Given the description of an element on the screen output the (x, y) to click on. 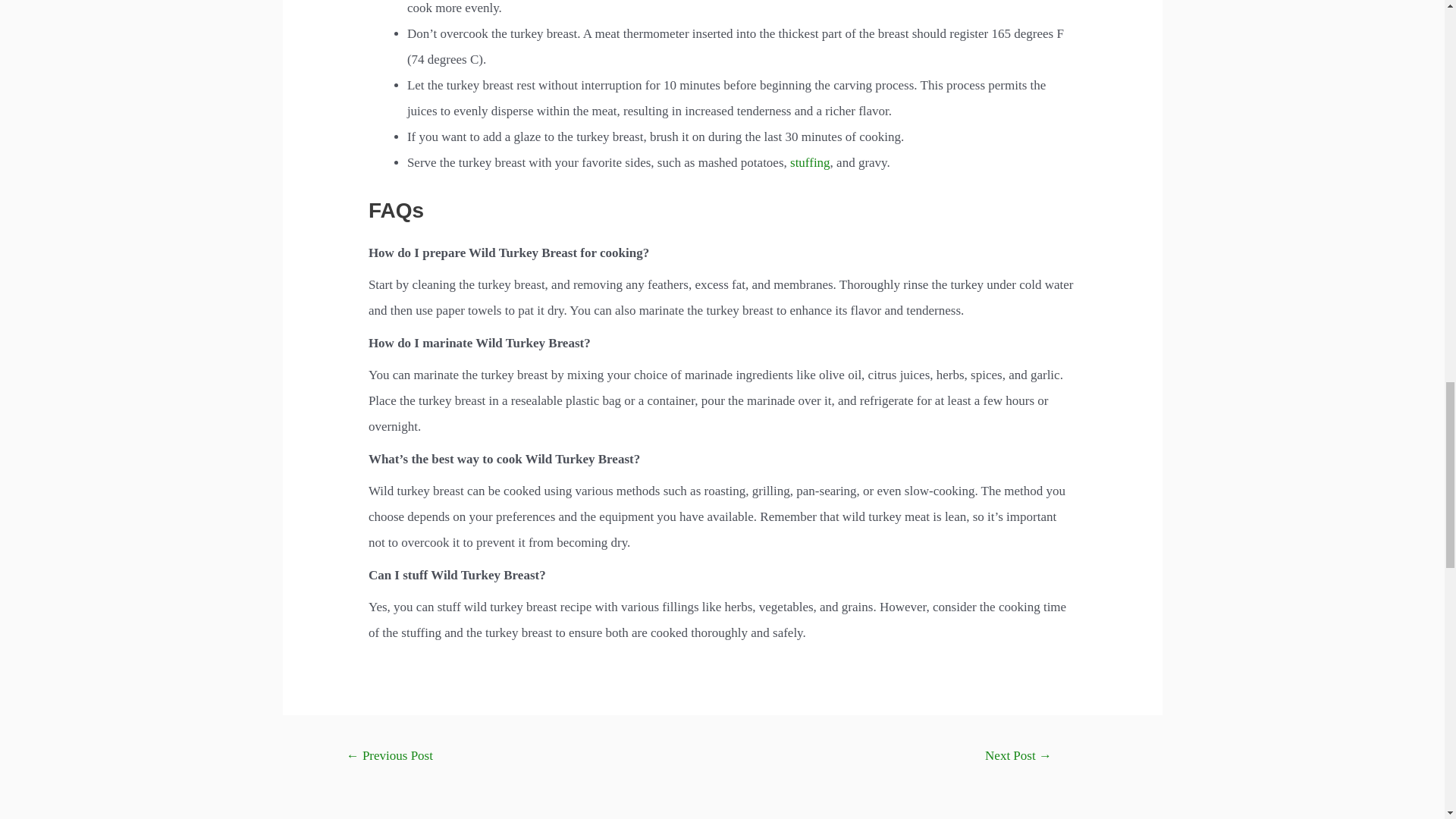
Toshiba Air Fryer (1018, 757)
Tips And Tricks For Using The Instant Vortex Air Fryer (388, 757)
stuffing (809, 162)
